Given the description of an element on the screen output the (x, y) to click on. 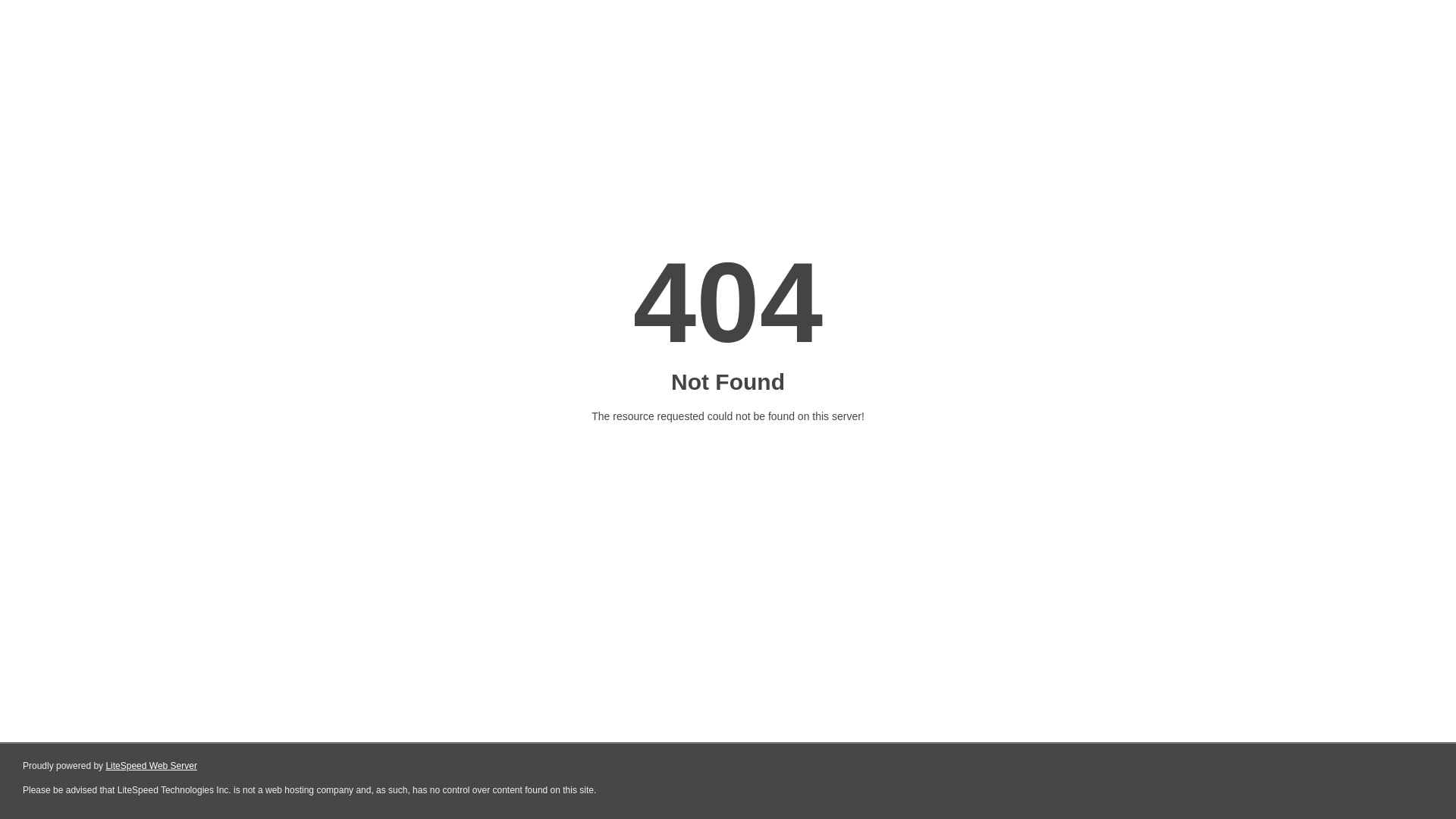
LiteSpeed Web Server Element type: text (151, 765)
